Given the description of an element on the screen output the (x, y) to click on. 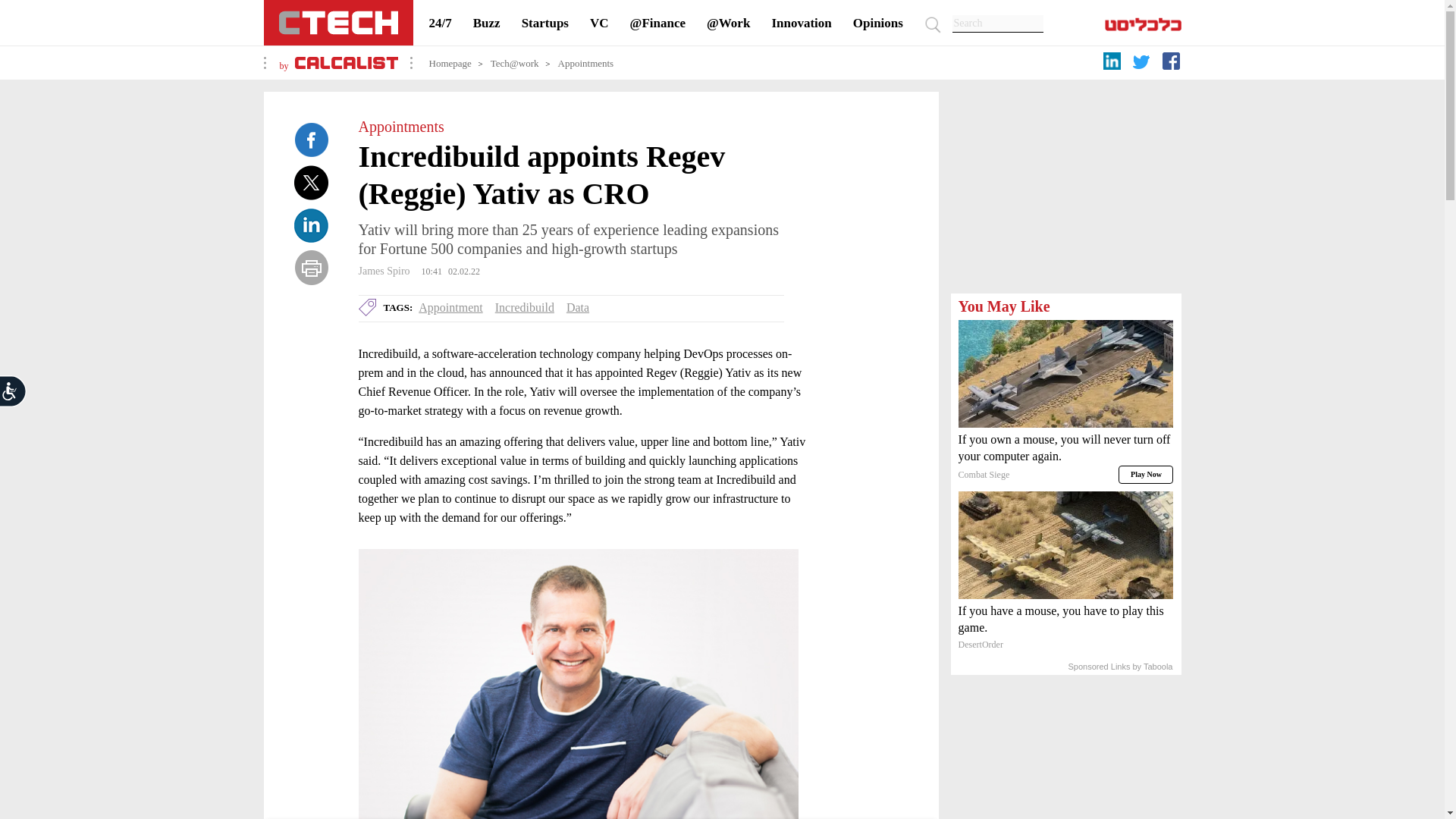
VC (598, 23)
Print (311, 267)
calcalist (345, 65)
CTech (338, 22)
linkedin (1113, 63)
Innovation (801, 23)
Incredibuild (524, 307)
Facebook (311, 140)
VC (598, 23)
Startups (545, 23)
facebook (1173, 63)
Finance (657, 23)
Opinions (877, 23)
Twitter (311, 182)
Startups (545, 23)
